Given the description of an element on the screen output the (x, y) to click on. 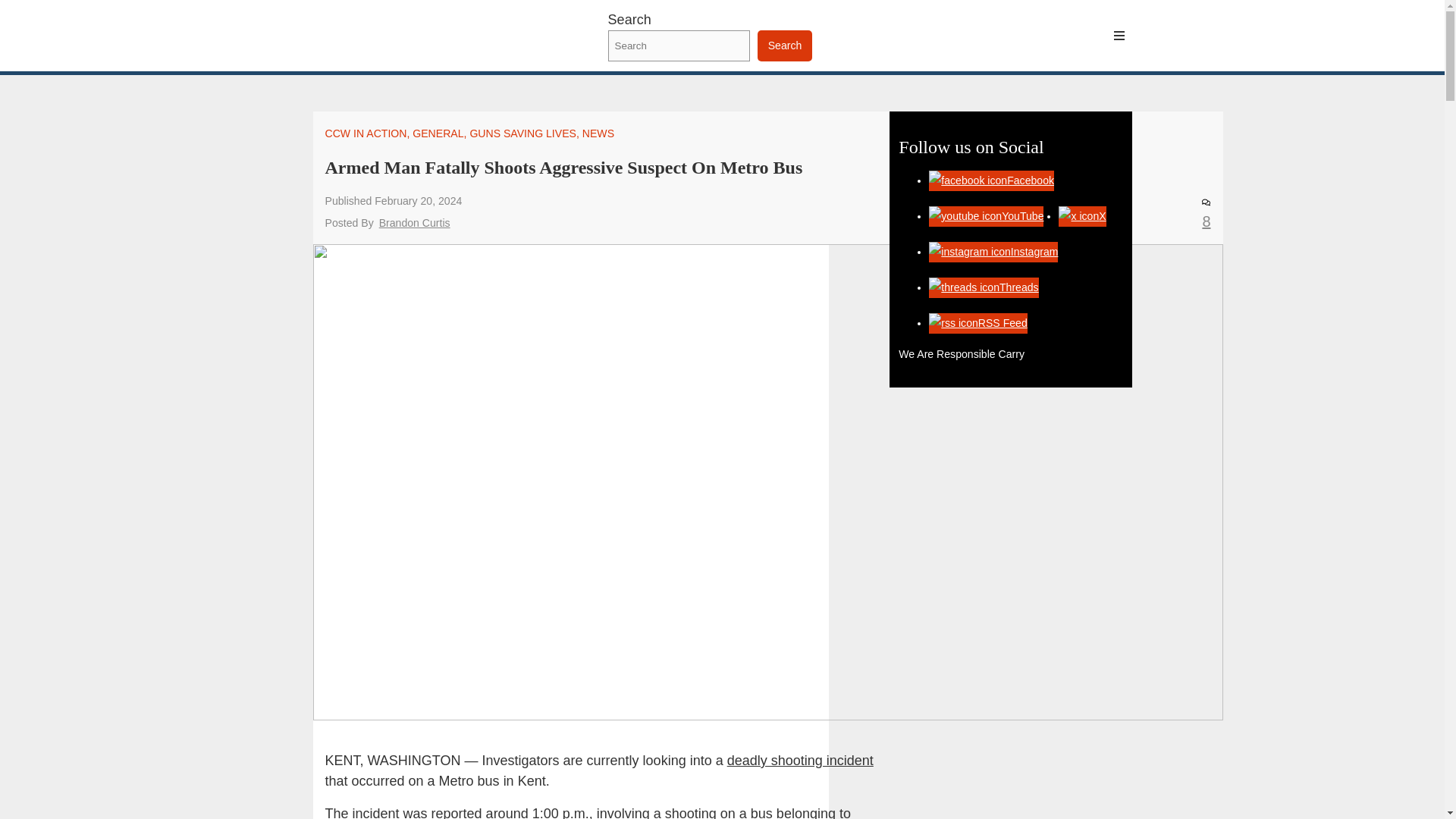
GUNS SAVING LIVES (522, 133)
Brandon Curtis (413, 223)
NEWS (598, 133)
Search (784, 45)
CCW IN ACTION (365, 133)
GENERAL (437, 133)
deadly shooting incident (799, 760)
